Given the description of an element on the screen output the (x, y) to click on. 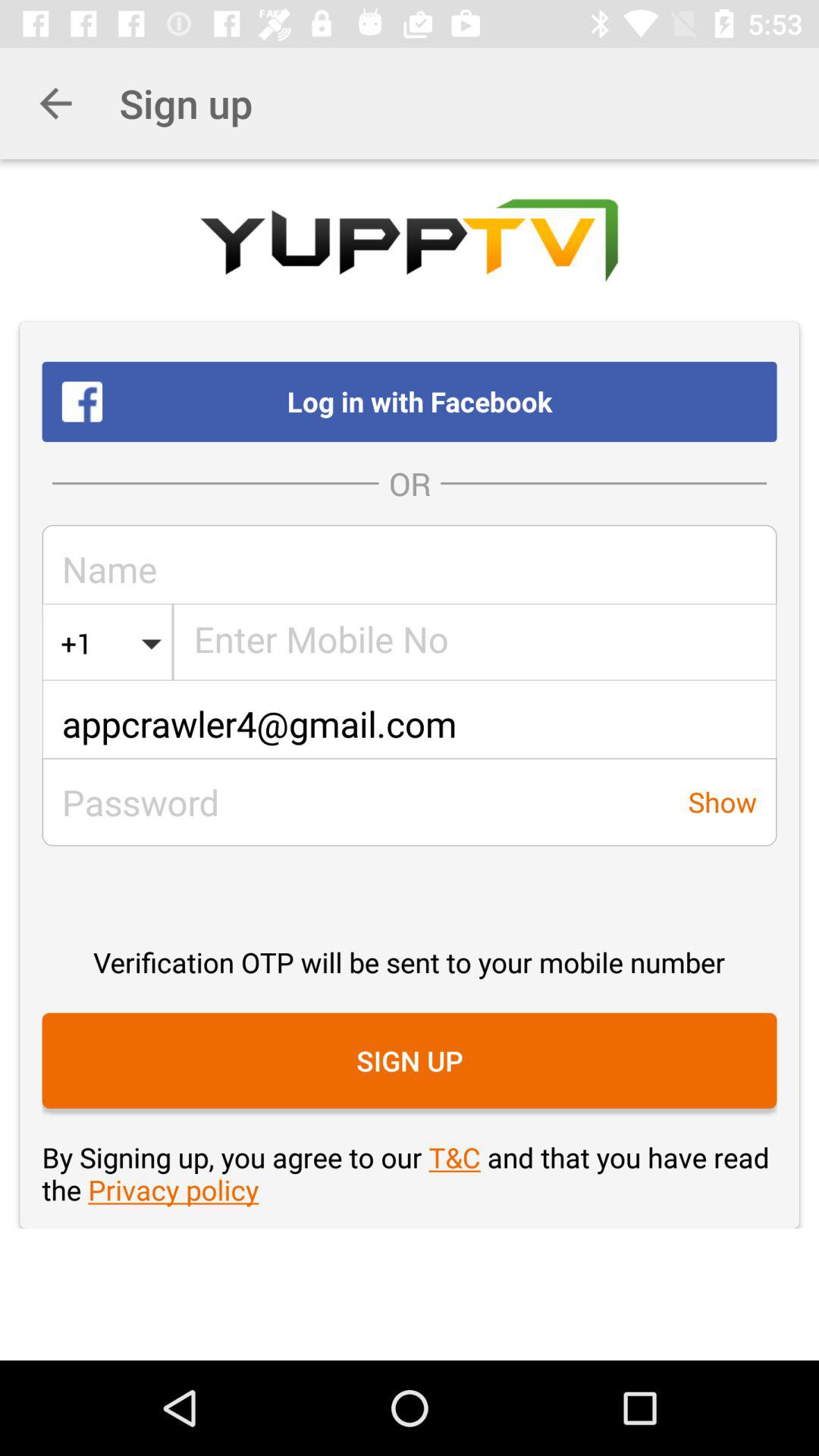
launch the icon next to the show item (355, 802)
